Given the description of an element on the screen output the (x, y) to click on. 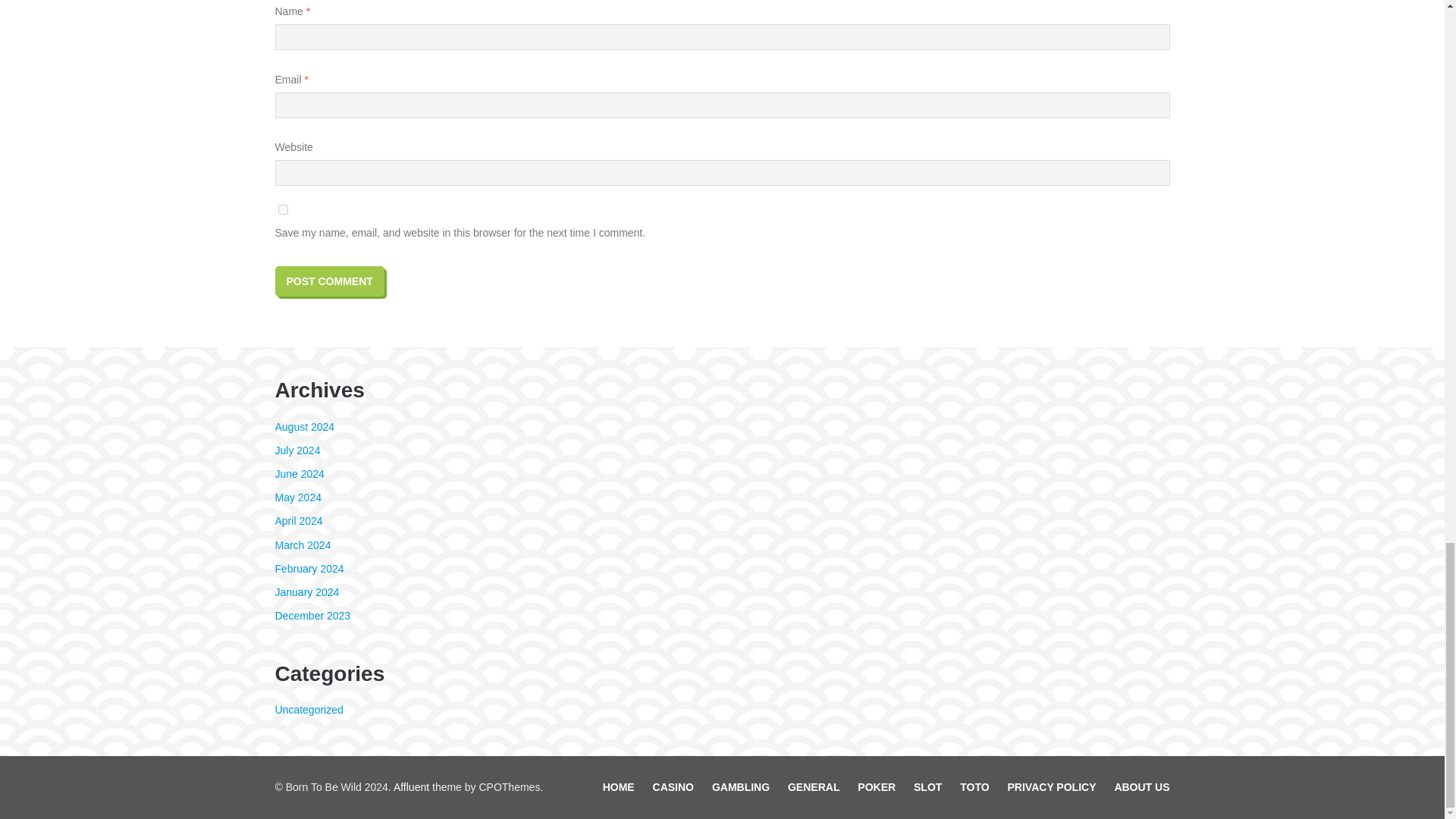
June 2024 (299, 473)
Post Comment (329, 281)
yes (282, 209)
August 2024 (304, 426)
July 2024 (297, 450)
Post Comment (329, 281)
